Given the description of an element on the screen output the (x, y) to click on. 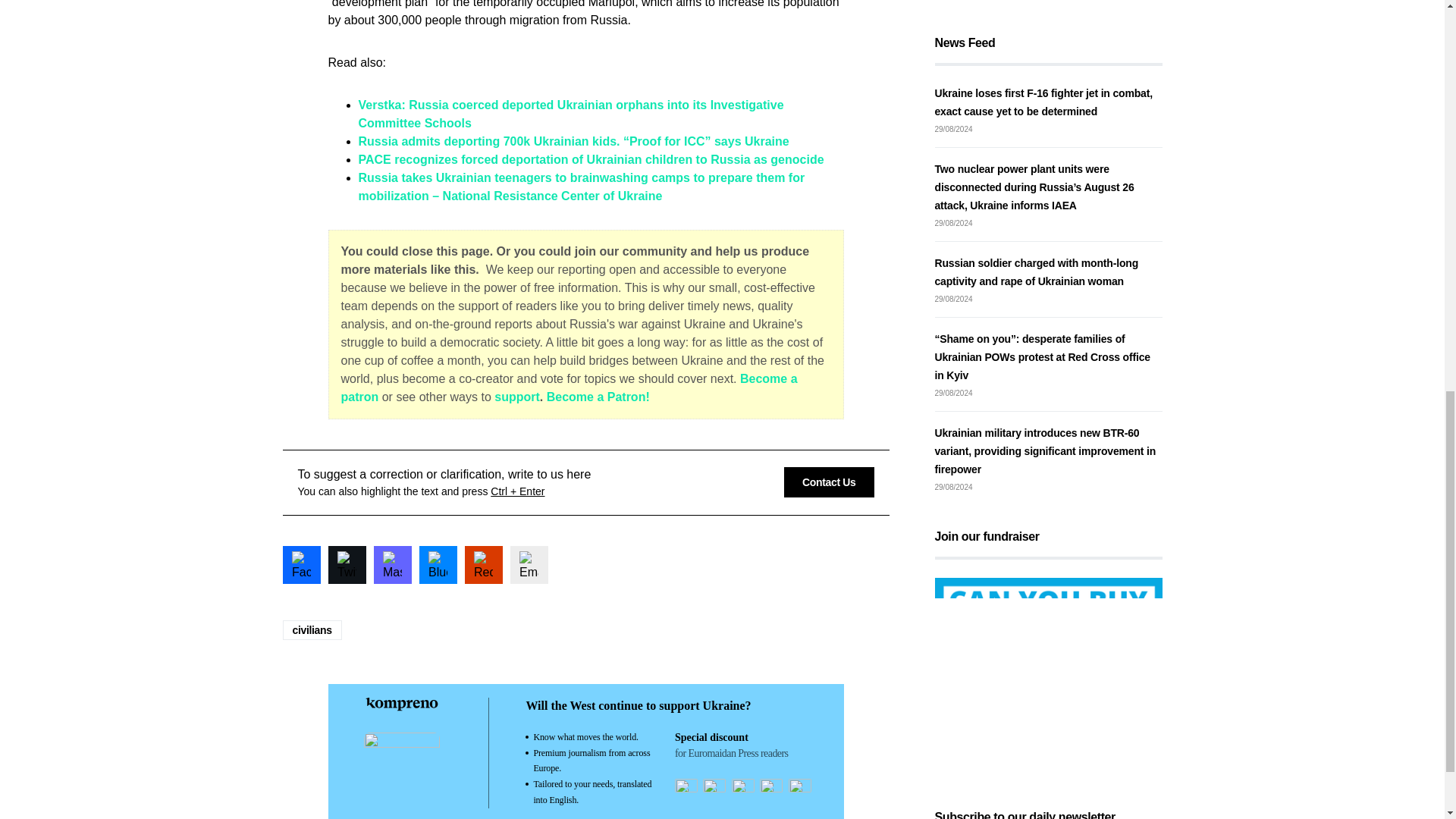
Share to Mastodon (391, 564)
Share to Facebook (301, 564)
Share to Twitter (346, 564)
Share to Email (528, 564)
Share to Bluesky (438, 564)
Share to Reddit (483, 564)
